Given the description of an element on the screen output the (x, y) to click on. 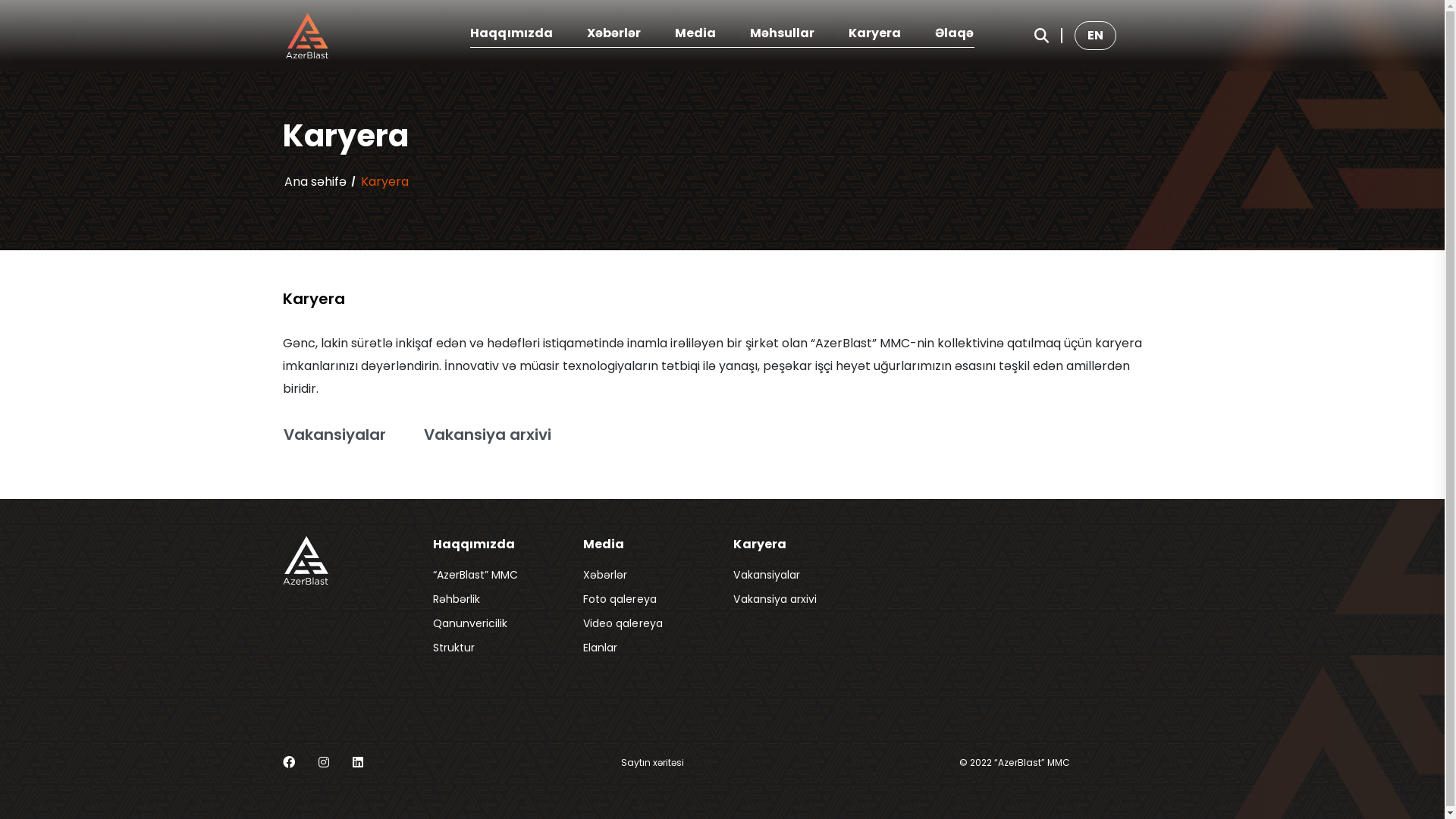
Karyera Element type: text (874, 32)
Foto qalereya Element type: text (619, 598)
EN Element type: text (1095, 34)
Struktur Element type: text (453, 647)
Elanlar Element type: text (600, 647)
Vakansiyalar Element type: text (340, 434)
Media Element type: text (694, 32)
Video qalereya Element type: text (622, 622)
Vakansiyalar Element type: text (766, 574)
Qanunvericilik Element type: text (470, 622)
Vakansiya arxivi Element type: text (493, 434)
Vakansiya arxivi Element type: text (774, 598)
